Given the description of an element on the screen output the (x, y) to click on. 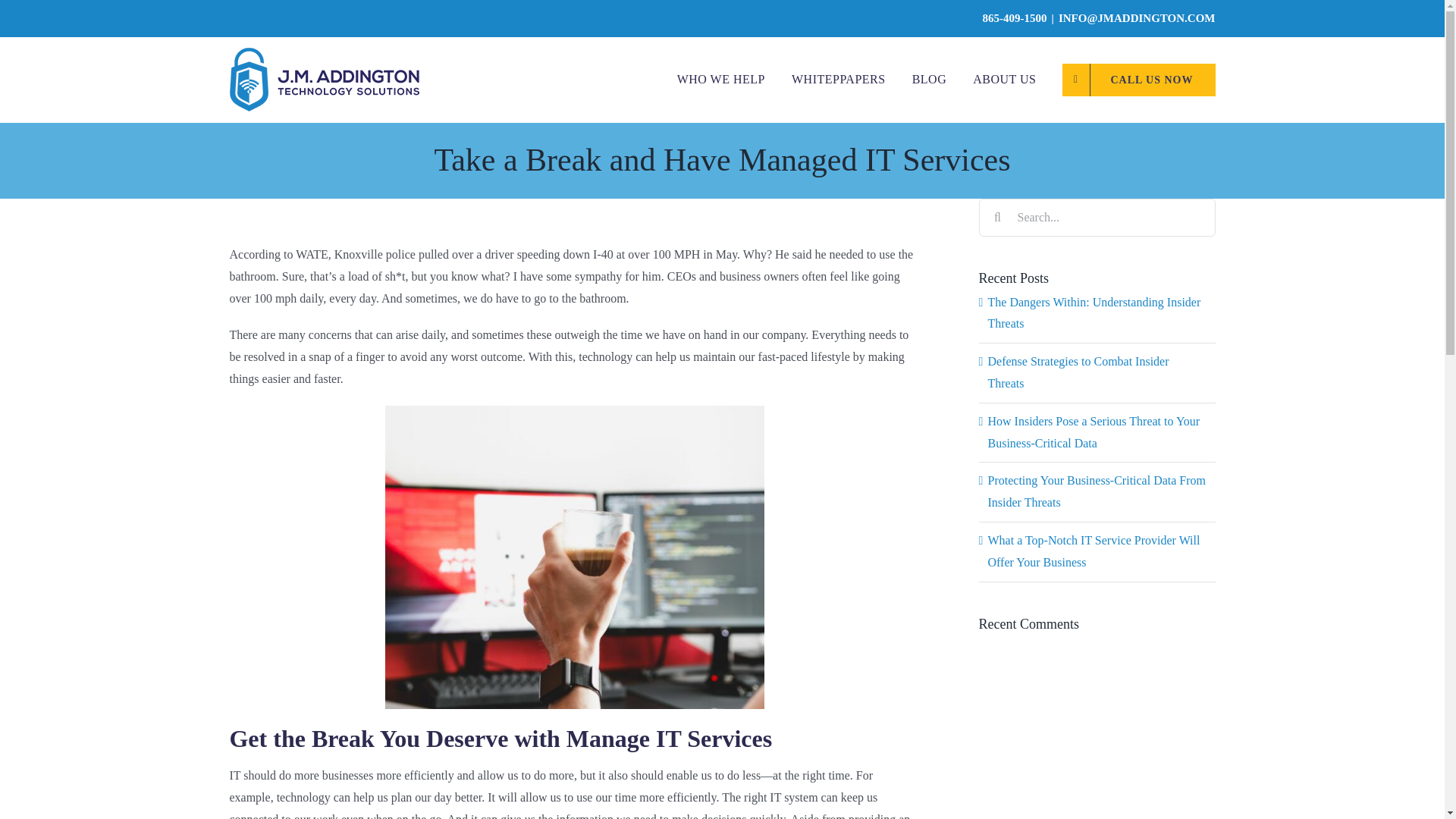
WHITEPPAPERS (838, 79)
The Dangers Within: Understanding Insider Threats (1093, 312)
Defense Strategies to Combat Insider Threats  (1078, 371)
CALL US NOW (1138, 79)
WHO WE HELP (721, 79)
Protecting Your Business-Critical Data From Insider Threats (1096, 491)
865-409-1500 (1014, 18)
